Given the description of an element on the screen output the (x, y) to click on. 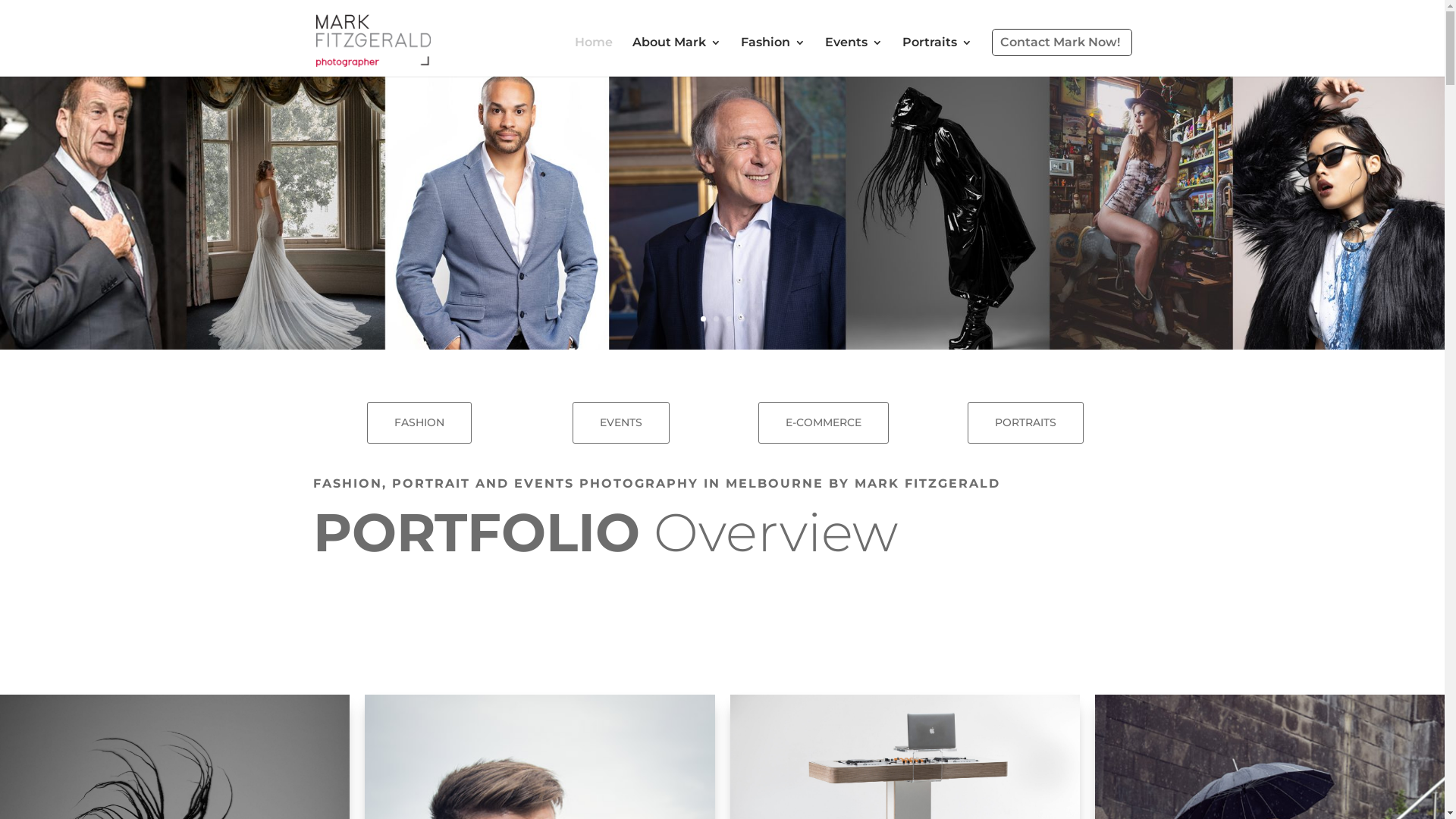
FASHION Element type: text (419, 422)
About Mark Element type: text (676, 56)
Home Element type: text (593, 56)
Contact Mark Now! Element type: text (1060, 42)
3 Element type: text (728, 318)
EVENTS Element type: text (620, 422)
2 Element type: text (715, 318)
Portraits Element type: text (937, 56)
Fashion Element type: text (772, 56)
Events Element type: text (853, 56)
E-COMMERCE Element type: text (823, 422)
1 Element type: text (703, 318)
PORTRAITS Element type: text (1025, 422)
4 Element type: text (740, 318)
